Given the description of an element on the screen output the (x, y) to click on. 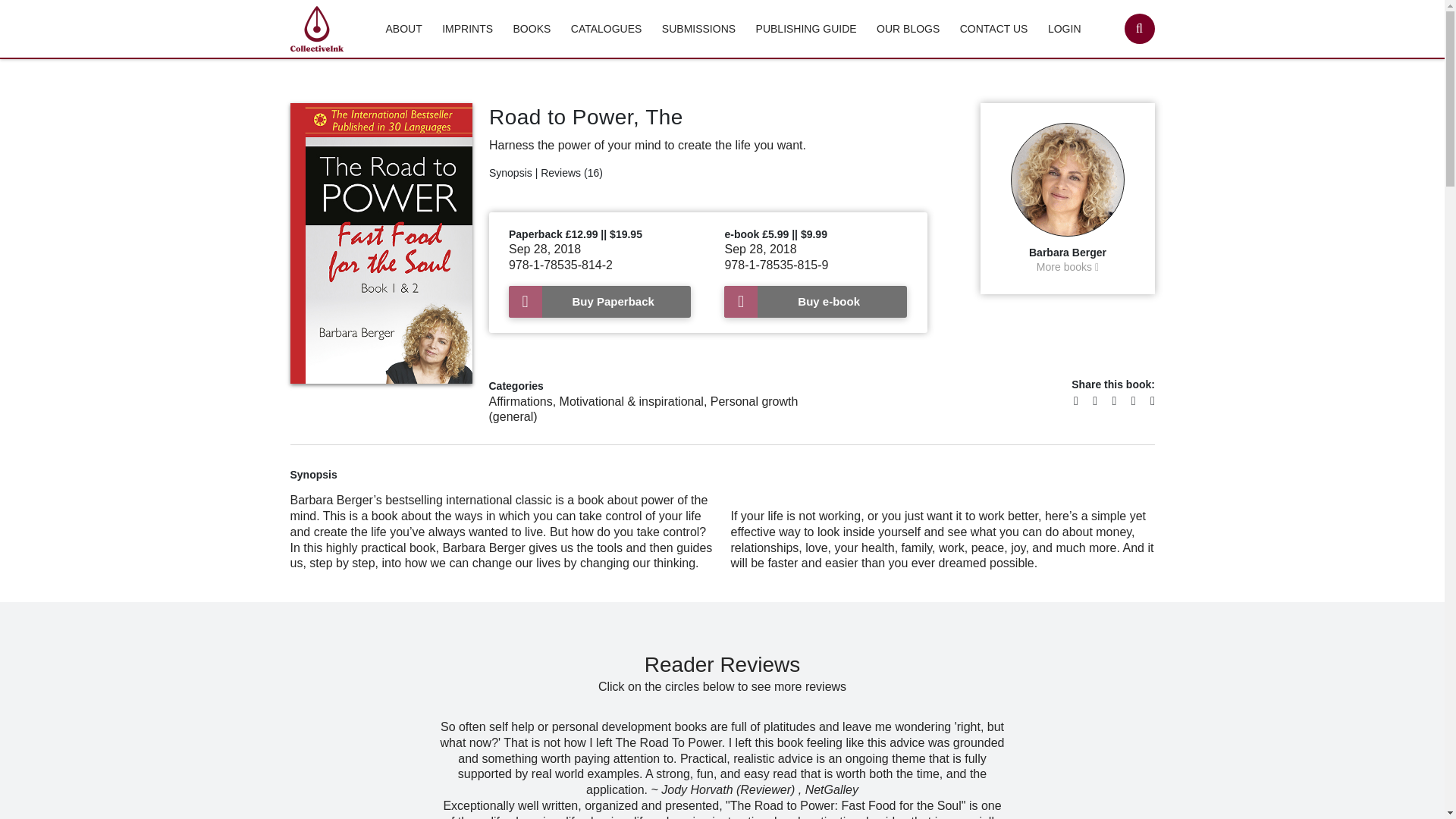
SUBMISSIONS (698, 28)
PUBLISHING GUIDE (806, 28)
OUR BLOGS (907, 28)
IMPRINTS (467, 28)
CONTACT US (993, 28)
CATALOGUES (606, 28)
